Given the description of an element on the screen output the (x, y) to click on. 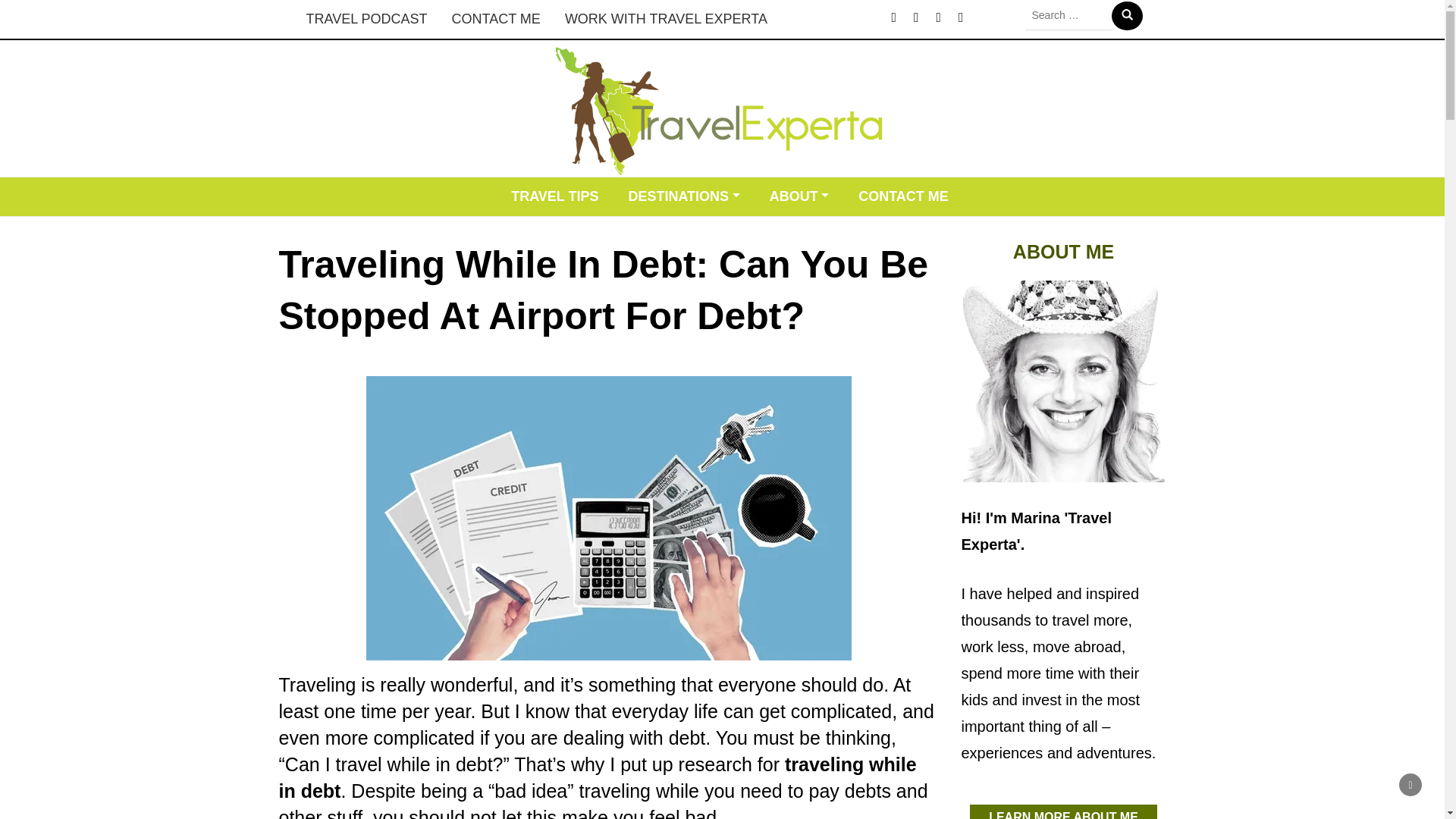
Search (1126, 15)
Search (1126, 15)
Search for: (1068, 15)
Search (1126, 15)
ABOUT (799, 196)
DESTINATIONS (683, 196)
TRAVEL PODCAST (366, 19)
WORK WITH TRAVEL EXPERTA (665, 19)
CONTACT ME (496, 19)
TRAVEL TIPS (554, 196)
CONTACT ME (902, 196)
